Given the description of an element on the screen output the (x, y) to click on. 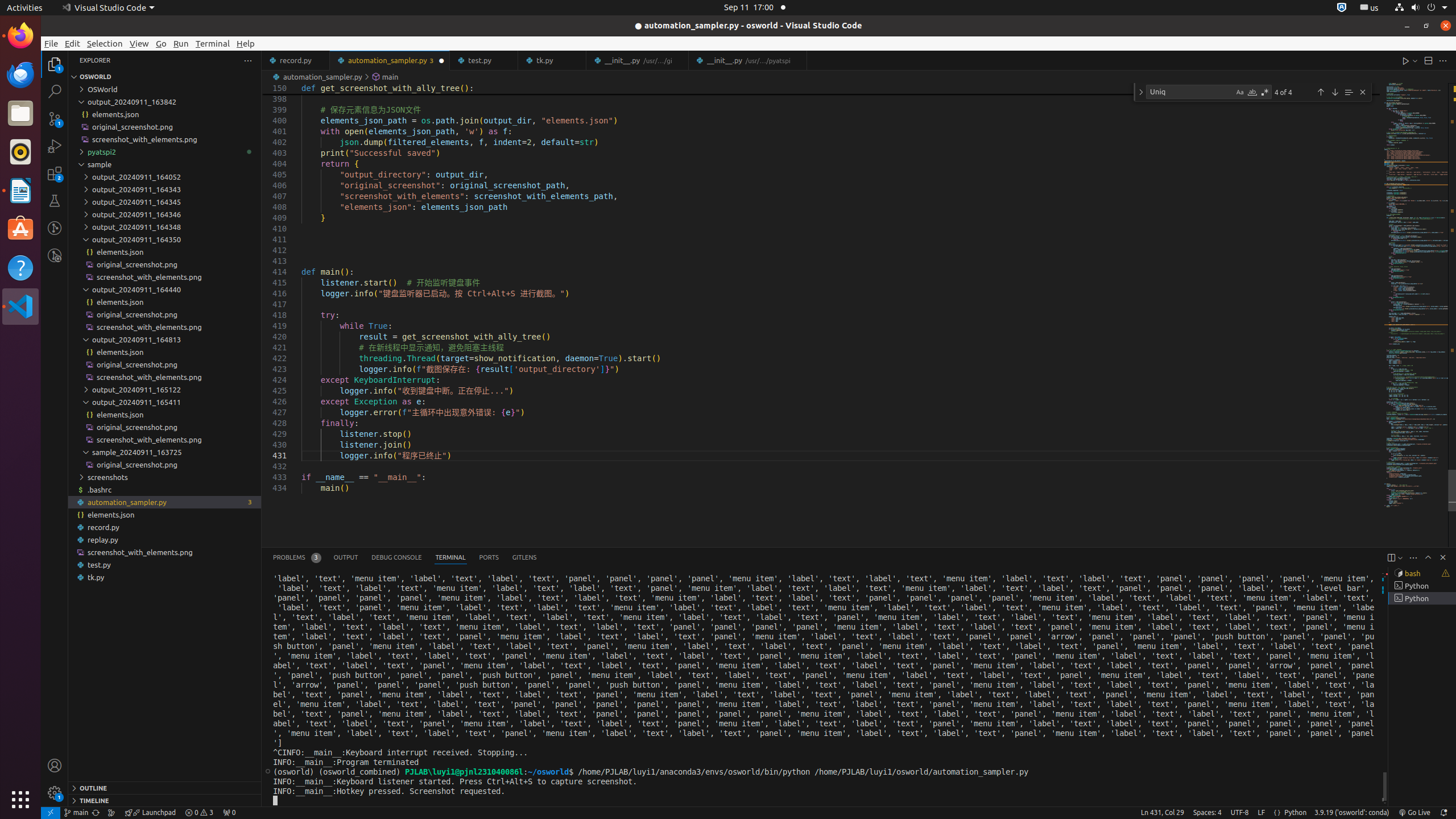
Selection Element type: push-button (104, 43)
output_20240911_164345 Element type: tree-item (164, 201)
sample_20240911_163725 Element type: tree-item (164, 451)
broadcast Go Live, Click to run live server Element type: push-button (1414, 812)
